Given the description of an element on the screen output the (x, y) to click on. 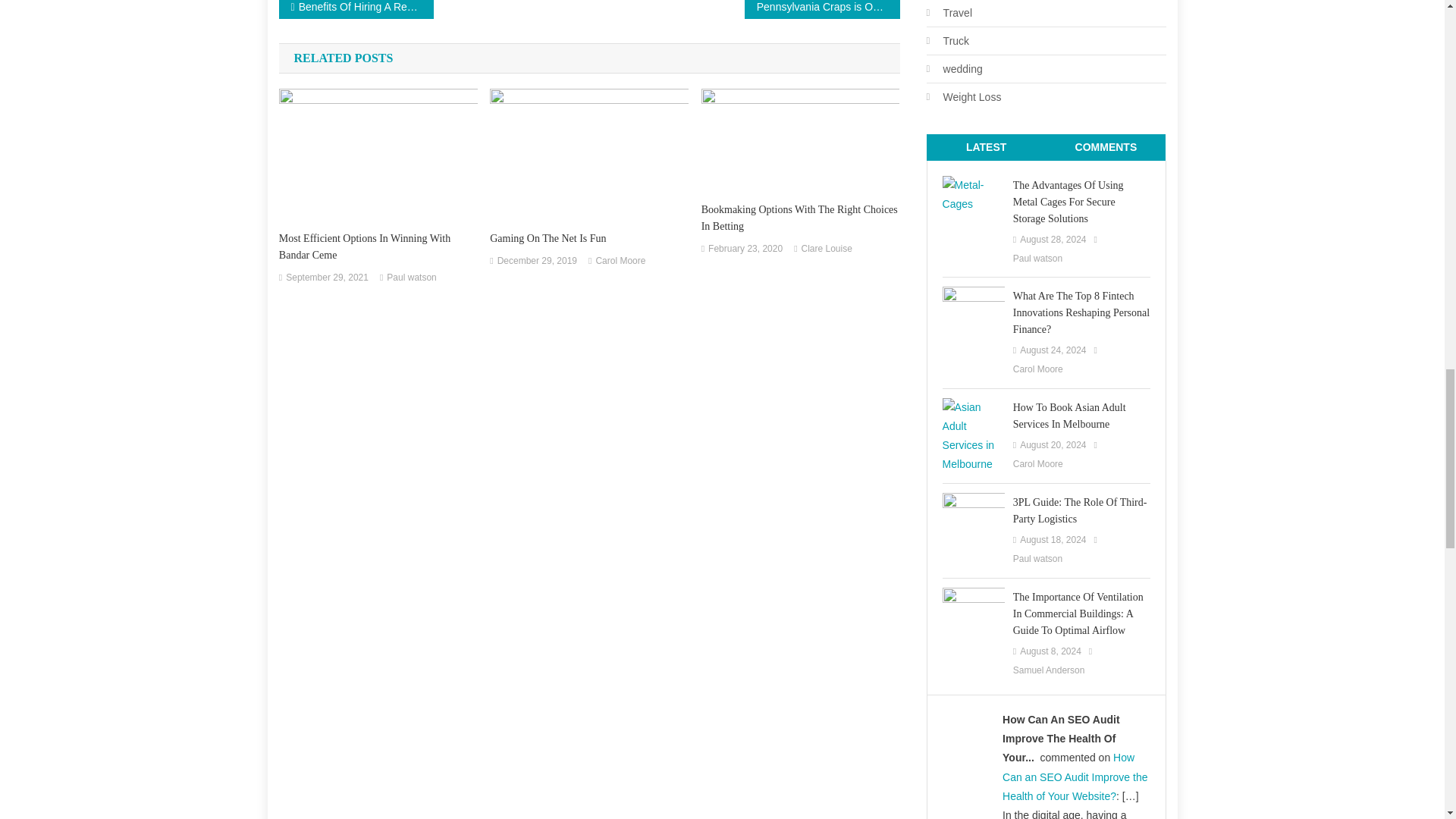
September 29, 2021 (326, 278)
Clare Louise (826, 248)
Most Efficient Options In Winning With Bandar Ceme (378, 246)
December 29, 2019 (536, 261)
Paul watson (411, 278)
Benefits Of Hiring A Reputed Wrongful Death Attorney (356, 9)
How Can an SEO Audit Improve the Health of Your Website? (1075, 776)
Carol Moore (620, 261)
Bookmaking Options With The Right Choices In Betting (800, 218)
February 23, 2020 (745, 248)
